Given the description of an element on the screen output the (x, y) to click on. 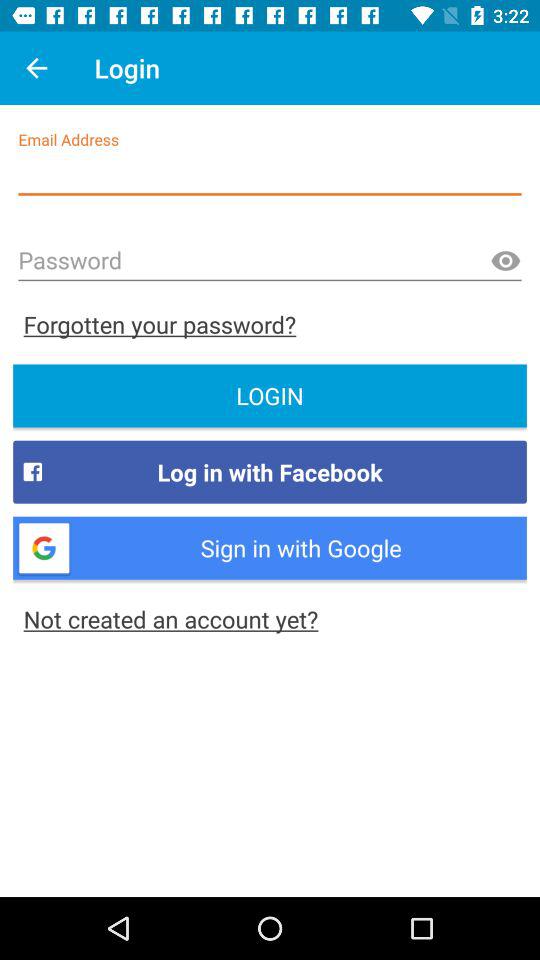
click to enable view option (505, 261)
